Given the description of an element on the screen output the (x, y) to click on. 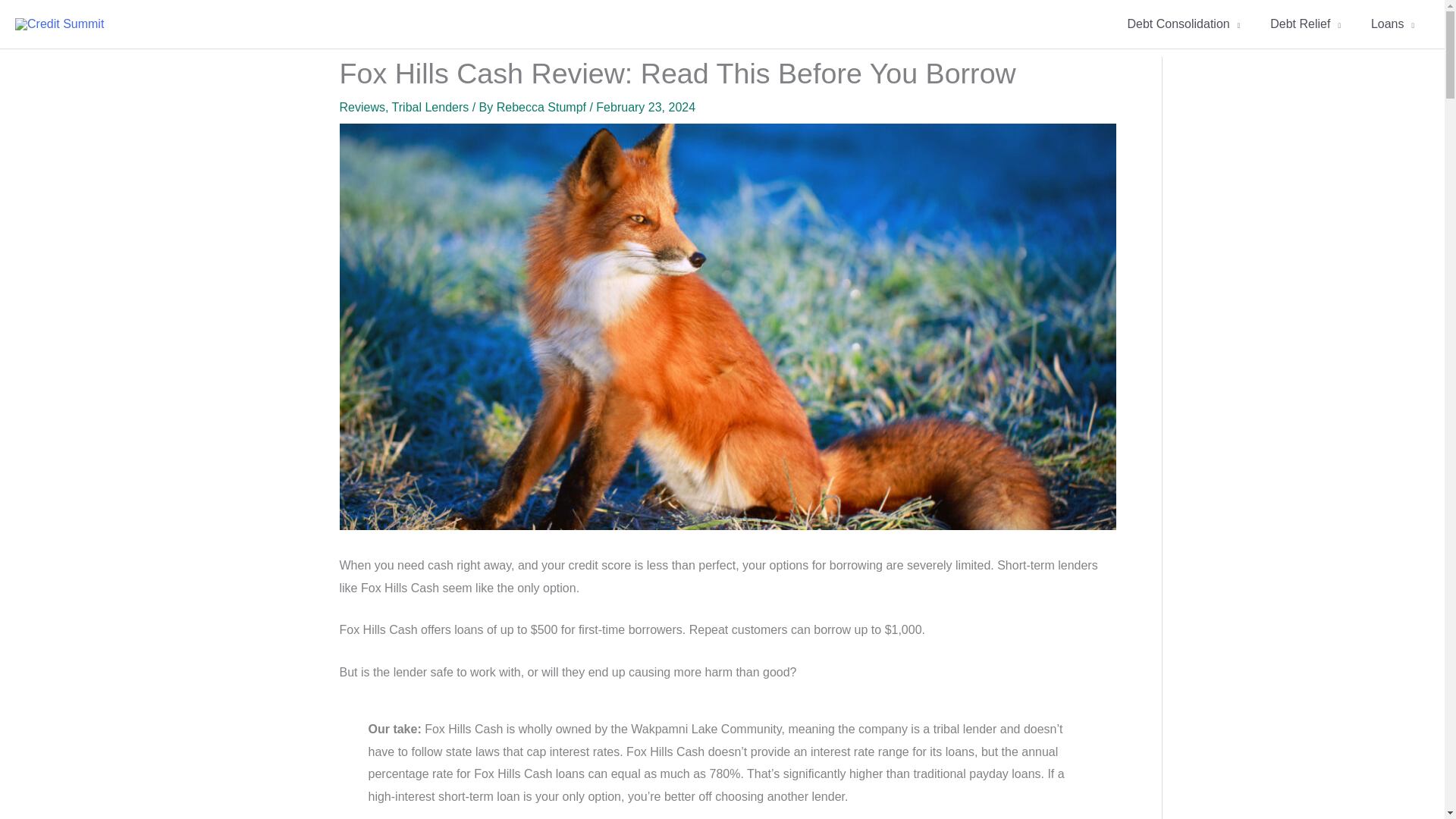
View all posts by Rebecca Stumpf (542, 106)
Tribal Lenders (429, 106)
Loans (1392, 24)
Rebecca Stumpf (542, 106)
Debt Consolidation (1183, 24)
Reviews (362, 106)
Debt Relief (1305, 24)
